Given the description of an element on the screen output the (x, y) to click on. 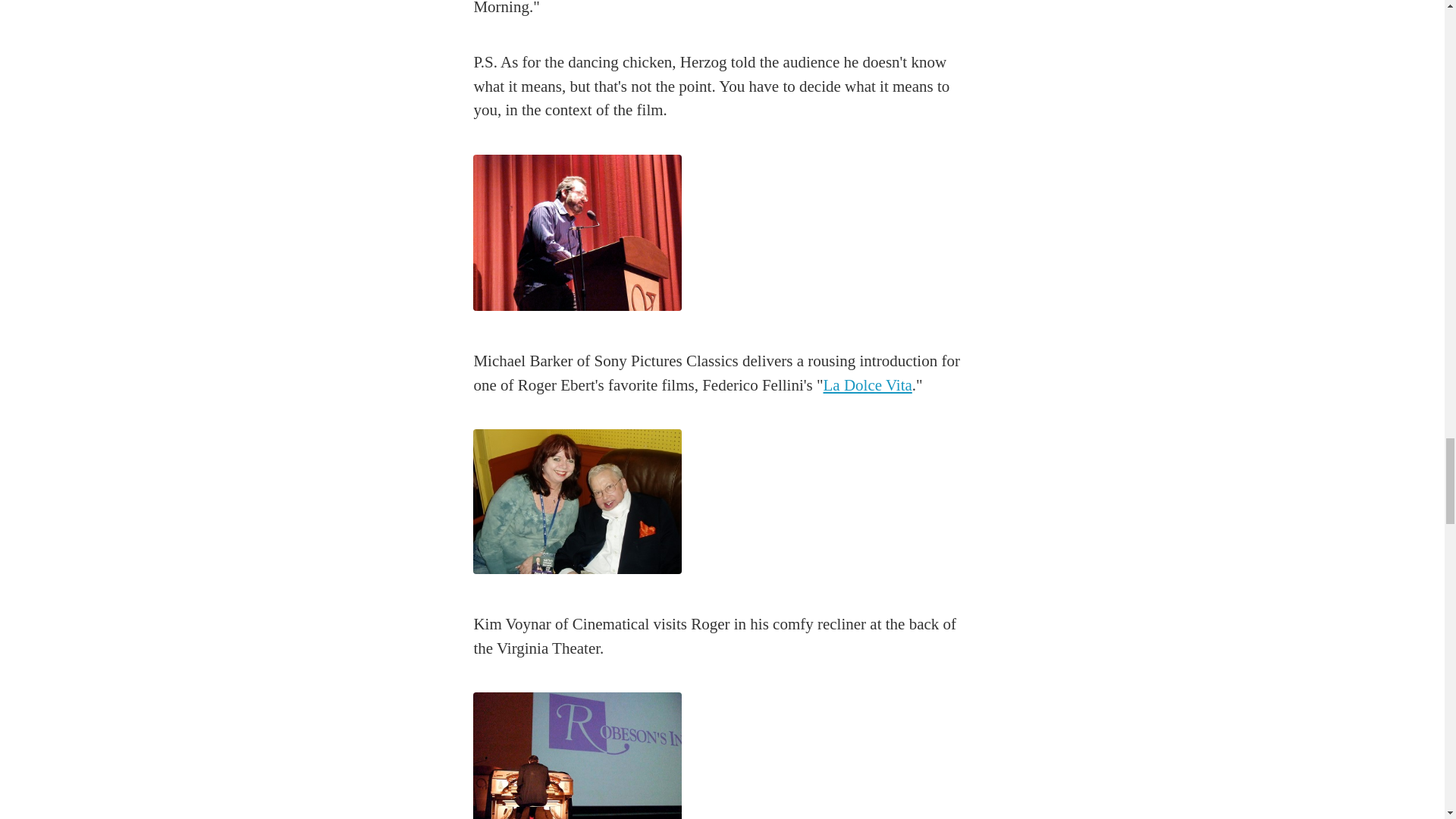
La Dolce Vita (868, 384)
